Given the description of an element on the screen output the (x, y) to click on. 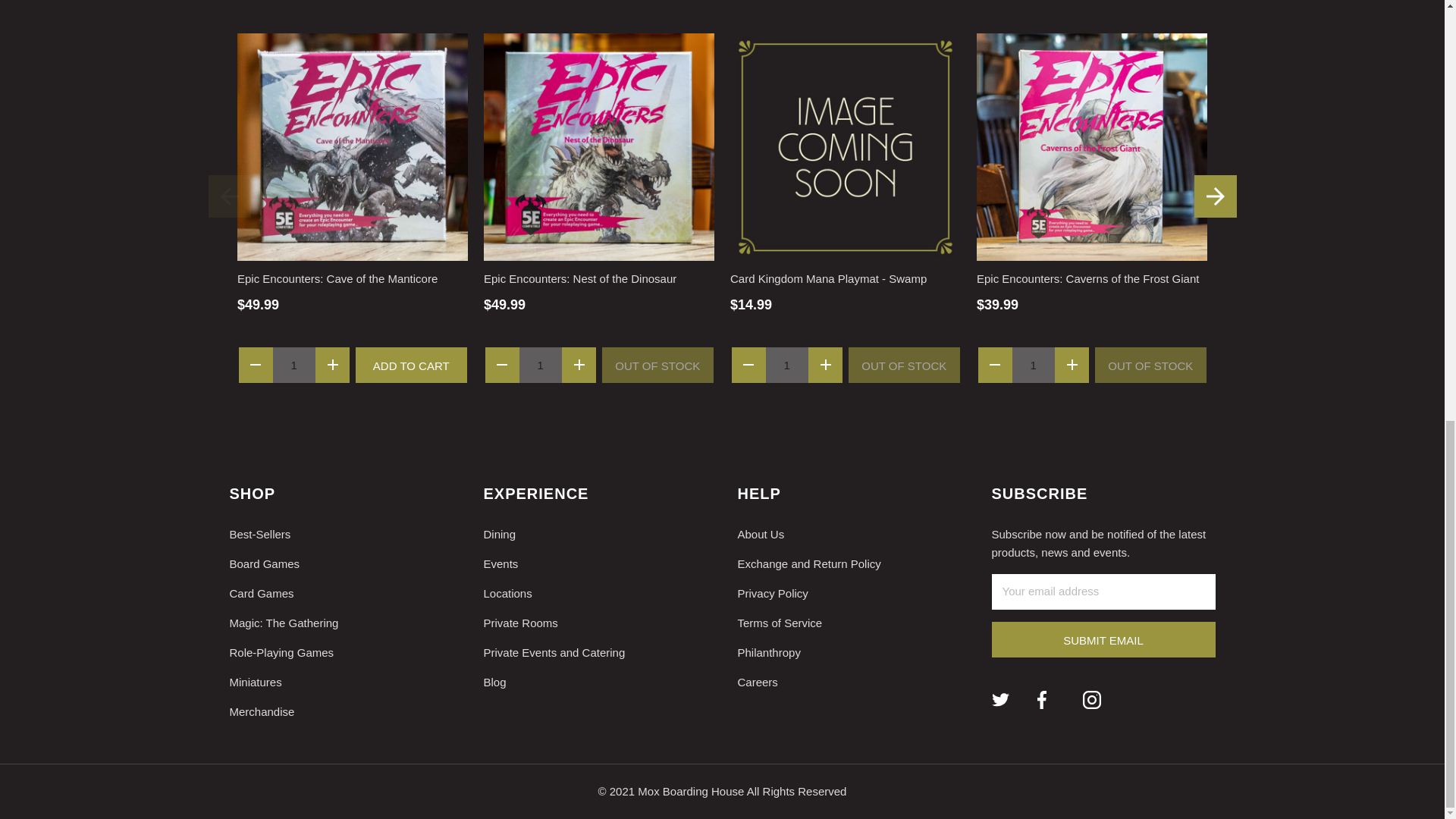
1 (787, 364)
1 (294, 364)
1 (540, 364)
1 (1032, 364)
Epic Encounters: Caverns of the Frost Giant (1091, 146)
Epic Encounters: Cave of the Manticore (352, 146)
Epic Encounters: Nest of the Dinosaur (598, 146)
Submit Email (1103, 638)
Card Kingdom Mana Playmat - Swamp (845, 146)
